Given the description of an element on the screen output the (x, y) to click on. 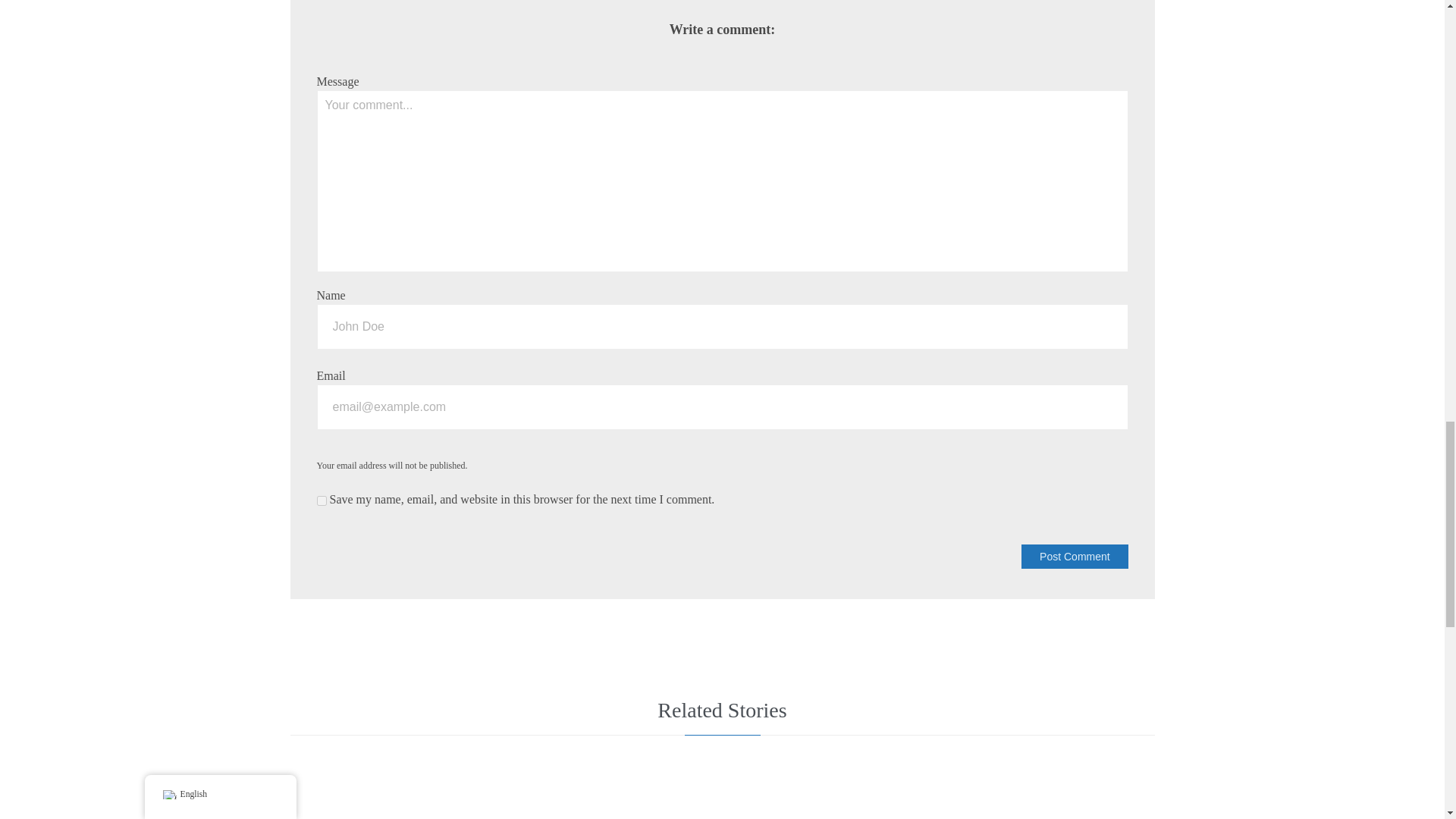
yes (321, 501)
Post Comment (1074, 556)
